Given the description of an element on the screen output the (x, y) to click on. 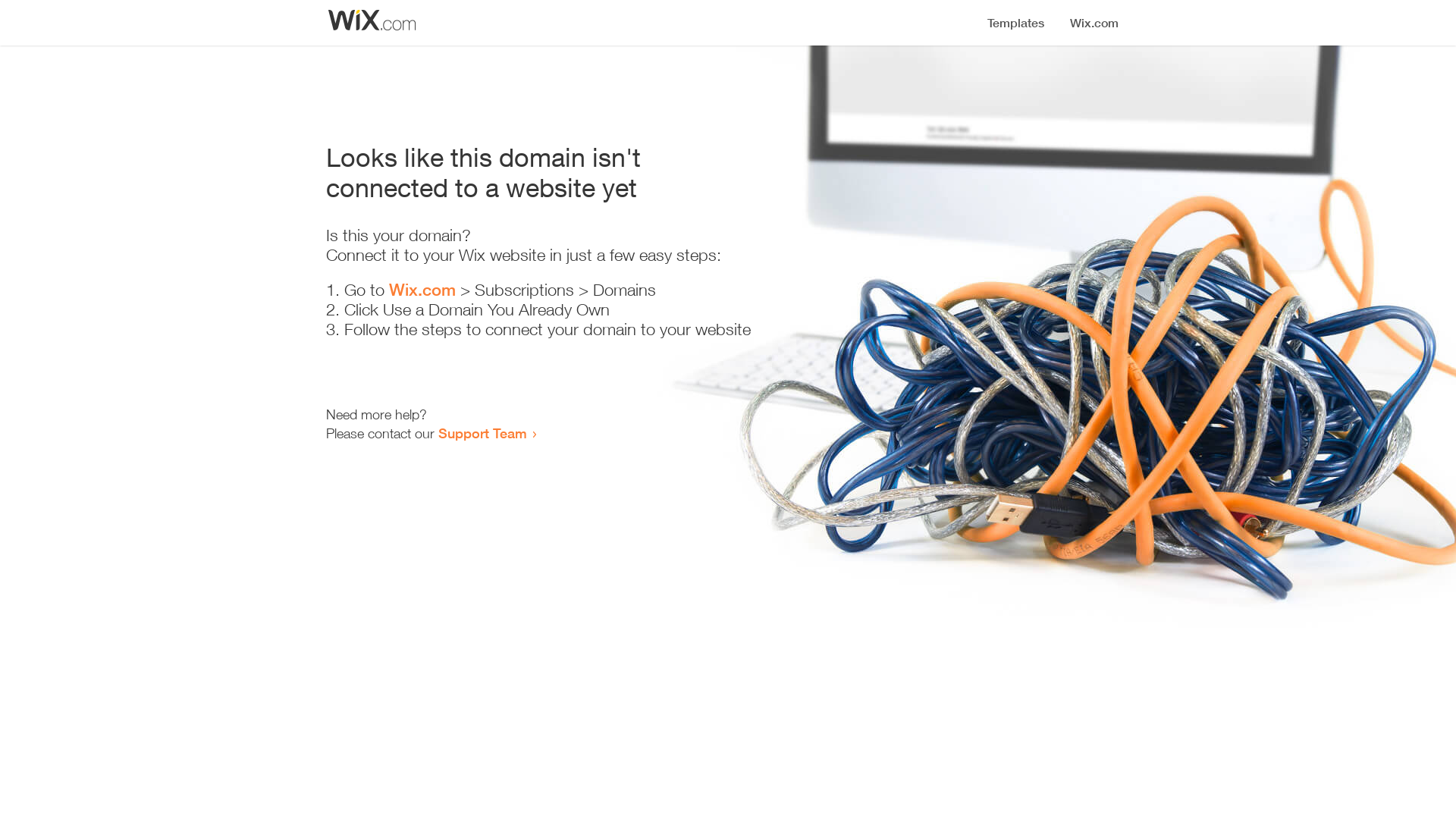
Wix.com Element type: text (422, 289)
Support Team Element type: text (482, 432)
